Given the description of an element on the screen output the (x, y) to click on. 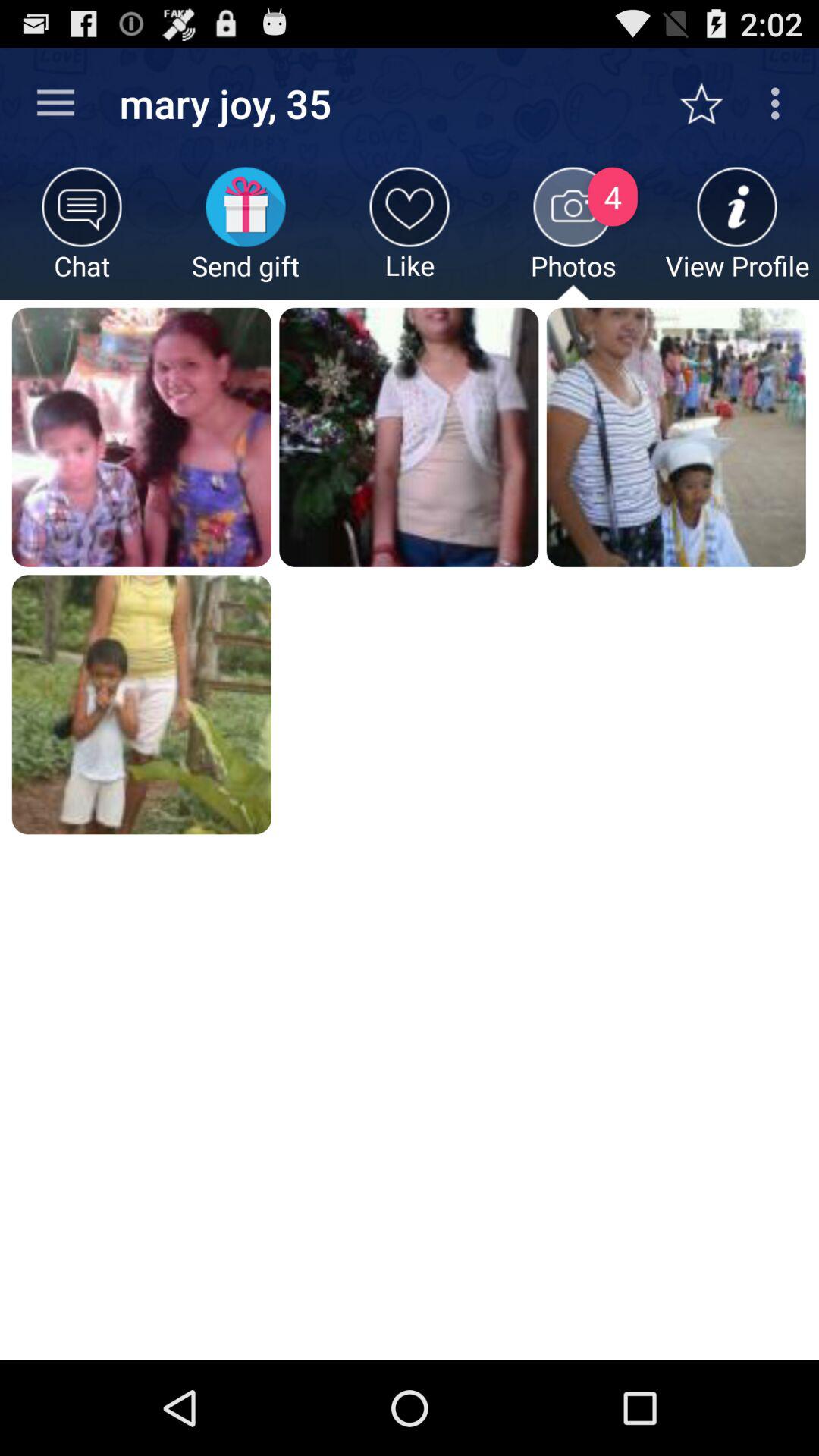
press the icon to the left of send gift (81, 233)
